Given the description of an element on the screen output the (x, y) to click on. 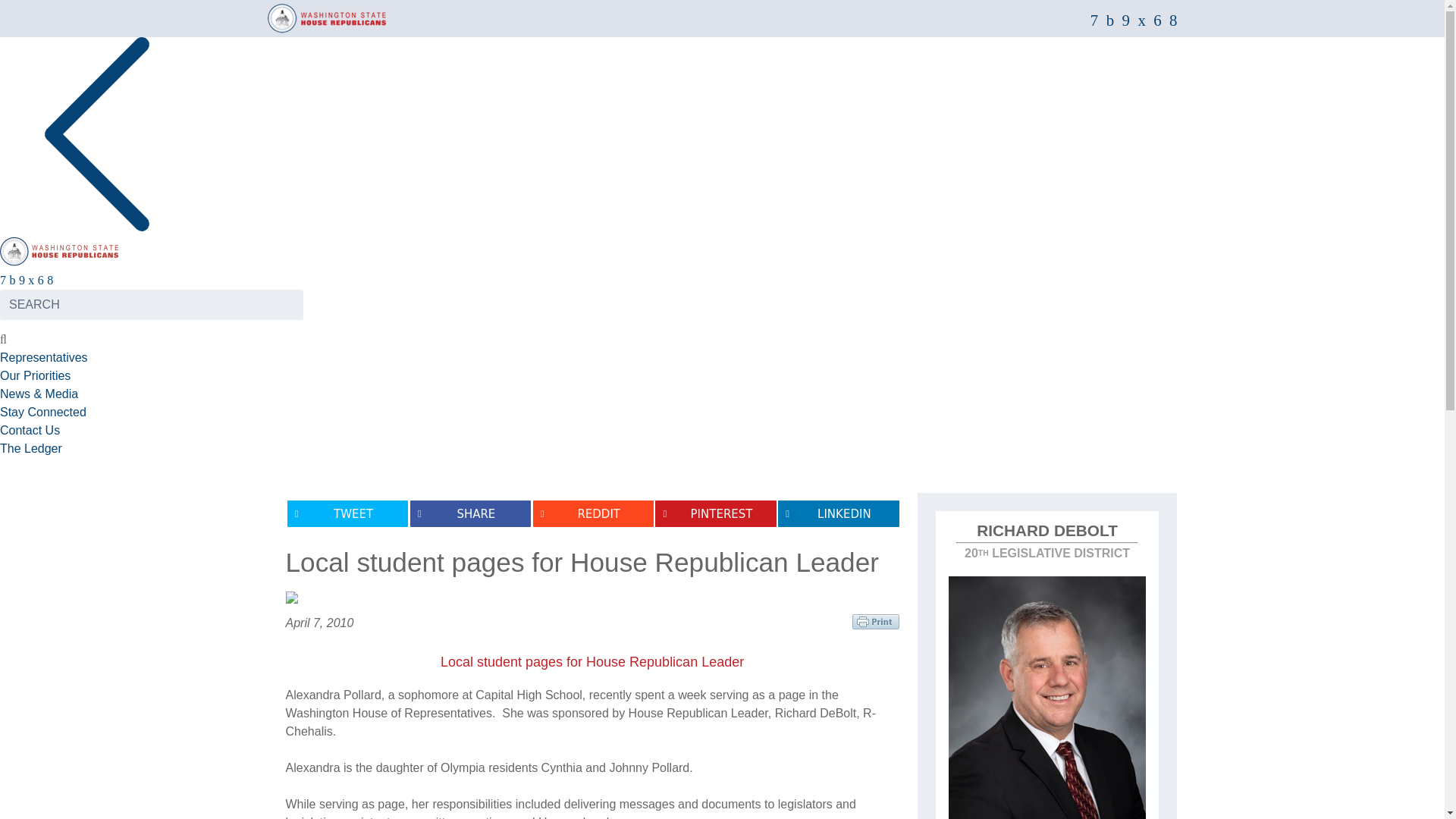
Share on Pinterest (715, 513)
Contact Us (29, 430)
Tweet on Twitter (346, 513)
Share on Linkedin (837, 513)
The Ledger (31, 448)
TWEET (346, 513)
Representatives (43, 357)
Share on Facebook (470, 513)
Our Priorities (34, 375)
Local student pages for House Republican Leader (591, 661)
PINTEREST (715, 513)
LINKEDIN (837, 513)
SHARE (470, 513)
Submit to Reddit (592, 513)
Stay Connected (42, 411)
